Given the description of an element on the screen output the (x, y) to click on. 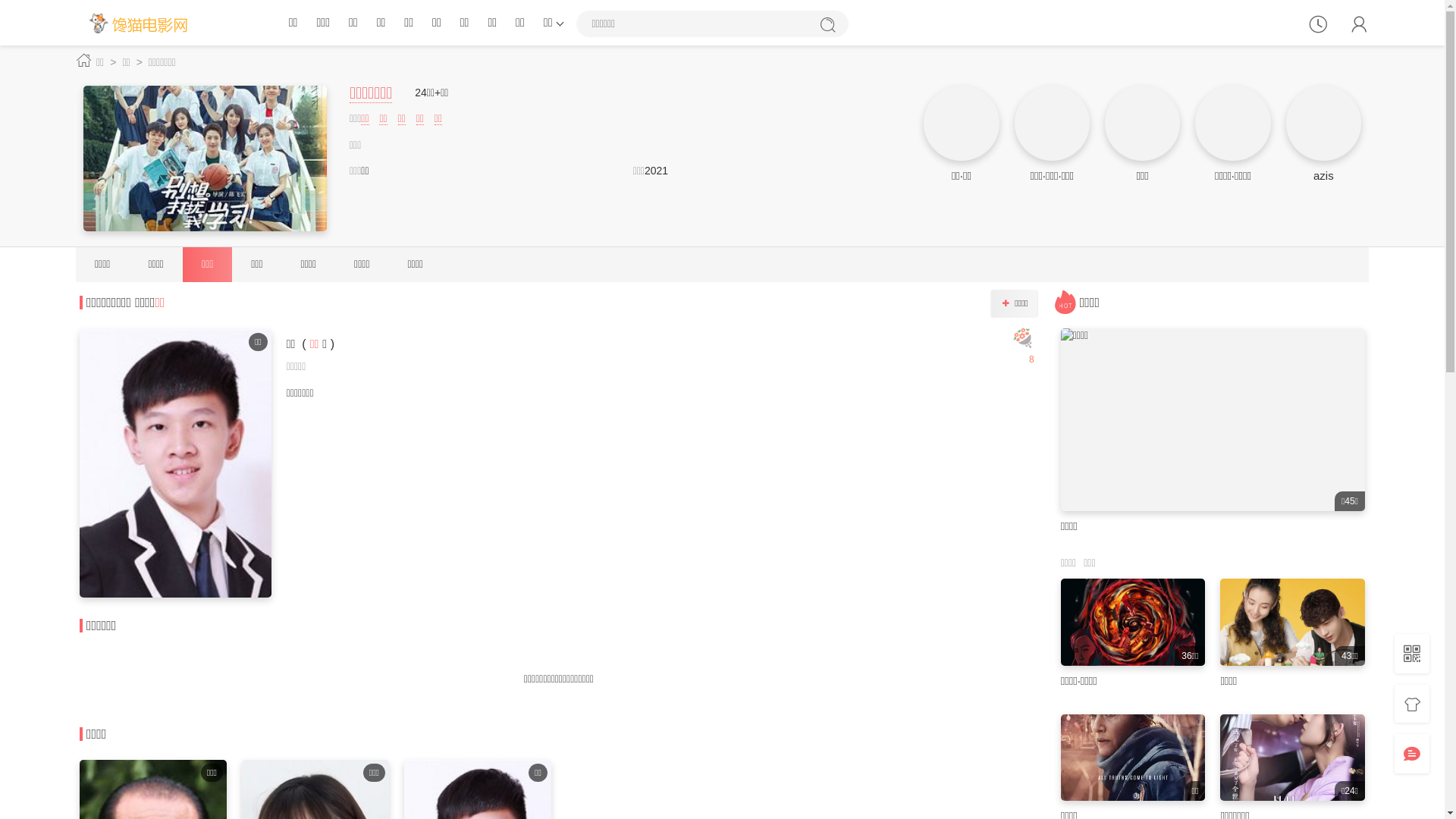
azis Element type: hover (1323, 122)
azis Element type: text (1323, 175)
